Given the description of an element on the screen output the (x, y) to click on. 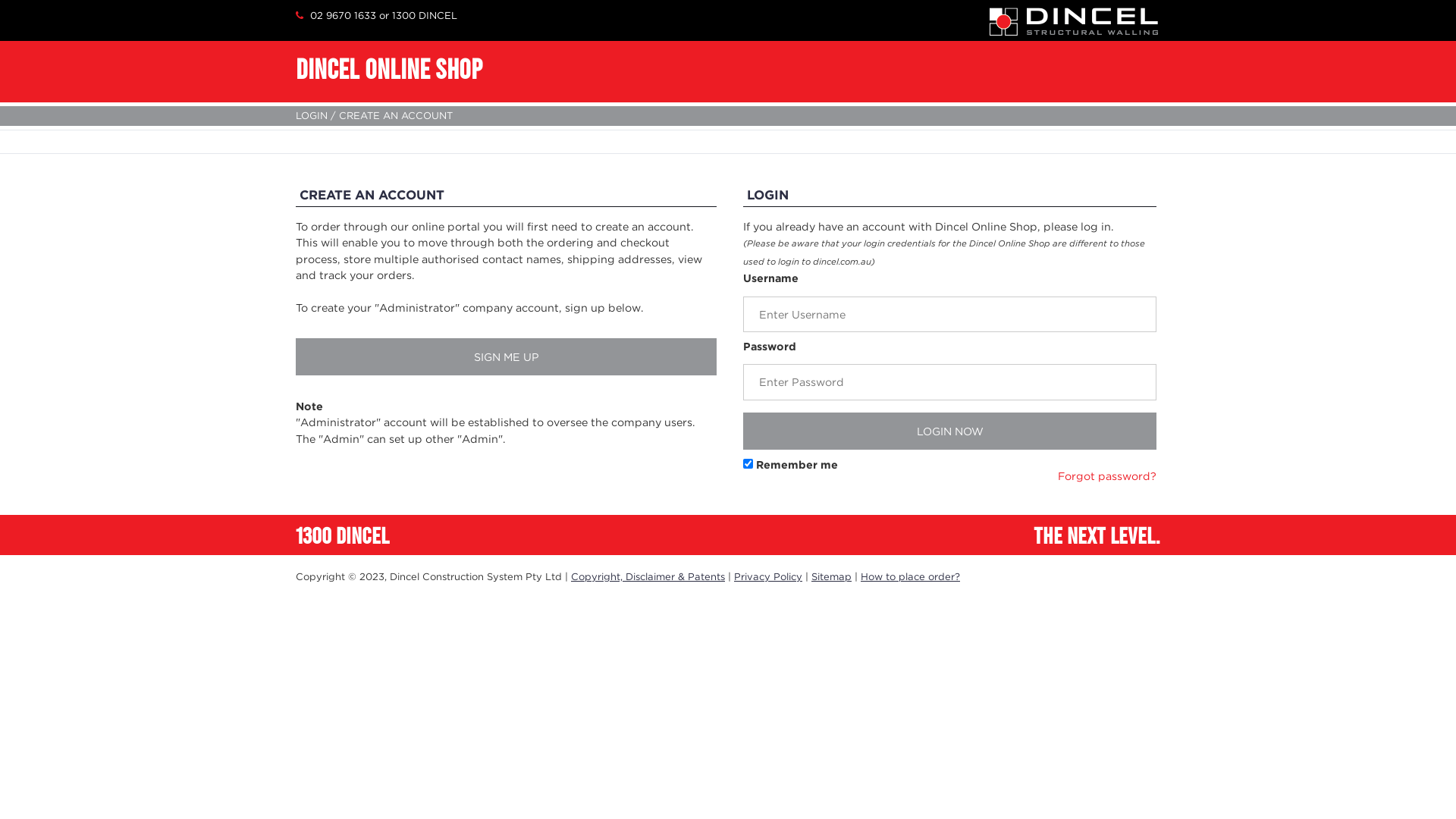
LOGIN NOW Element type: text (949, 430)
DINCEL ONLINE SHOP Element type: text (388, 67)
Forgot password? Element type: text (1106, 475)
02 9670 1633 or 1300 DINCEL Element type: text (376, 15)
How to place order? Element type: text (910, 576)
SIGN ME UP Element type: text (505, 356)
Privacy Policy Element type: text (768, 576)
Copyright, Disclaimer & Patents Element type: text (647, 576)
Sitemap Element type: text (831, 576)
